Given the description of an element on the screen output the (x, y) to click on. 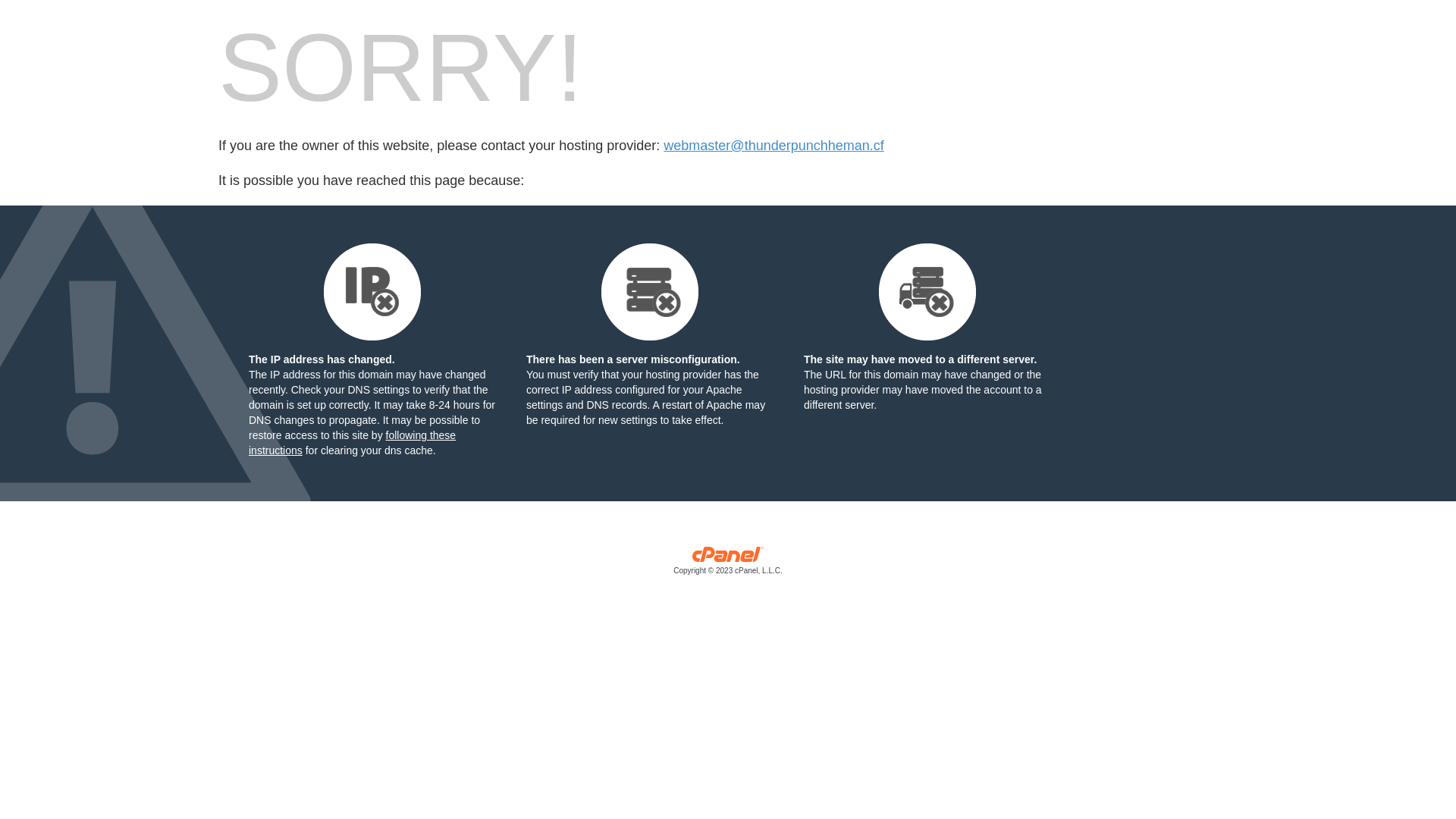
webmaster@thunderpunchheman.cf Element type: text (773, 145)
following these instructions Element type: text (351, 442)
